Given the description of an element on the screen output the (x, y) to click on. 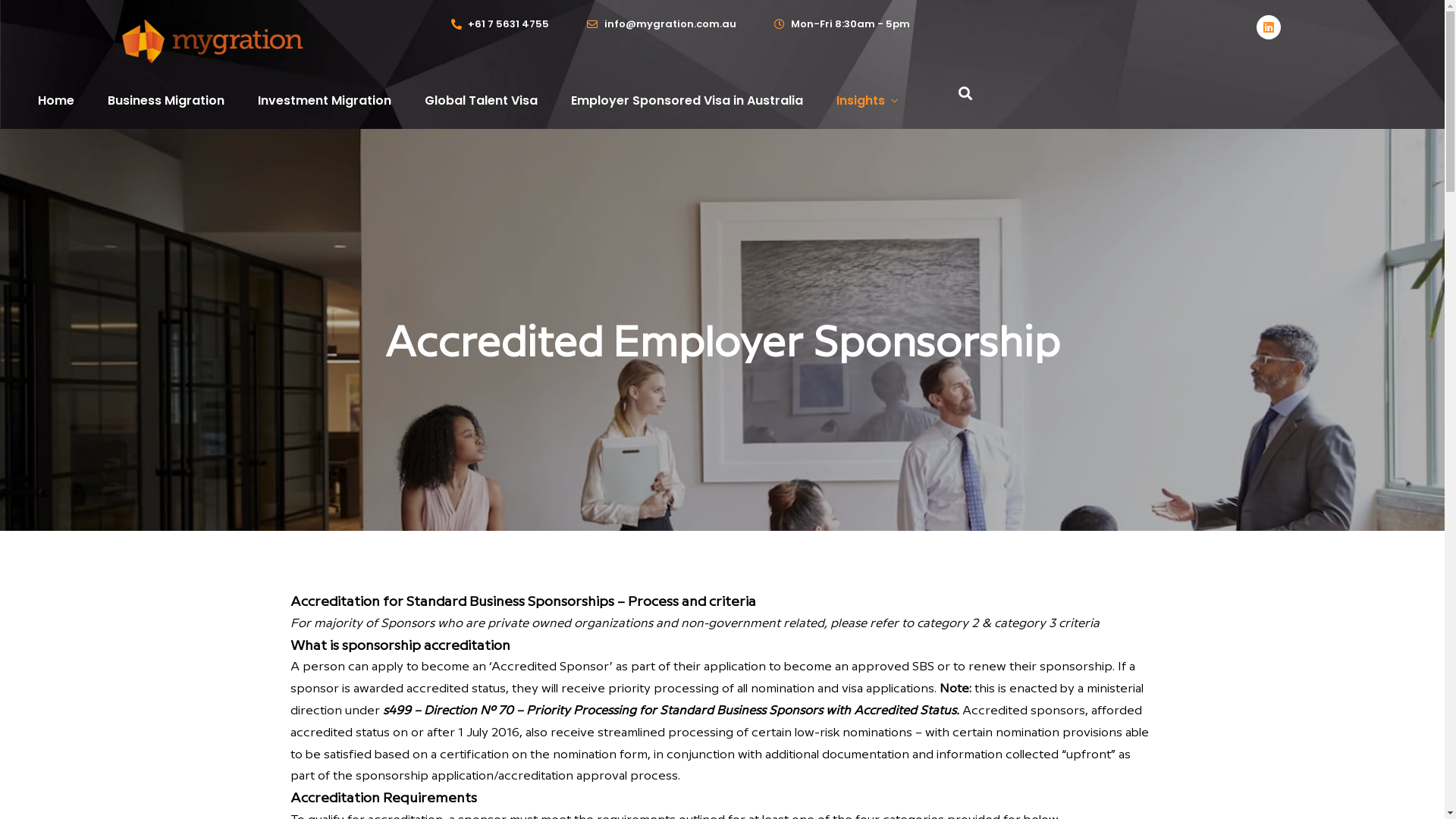
Investment Migration Element type: text (324, 101)
+61 7 5631 4755 Element type: text (500, 23)
info@mygration.com.au Element type: text (661, 23)
Business Migration Element type: text (165, 101)
Employer Sponsored Visa in Australia Element type: text (687, 101)
Home Element type: text (55, 101)
Global Talent Visa Element type: text (480, 101)
Insights Element type: text (866, 101)
